Given the description of an element on the screen output the (x, y) to click on. 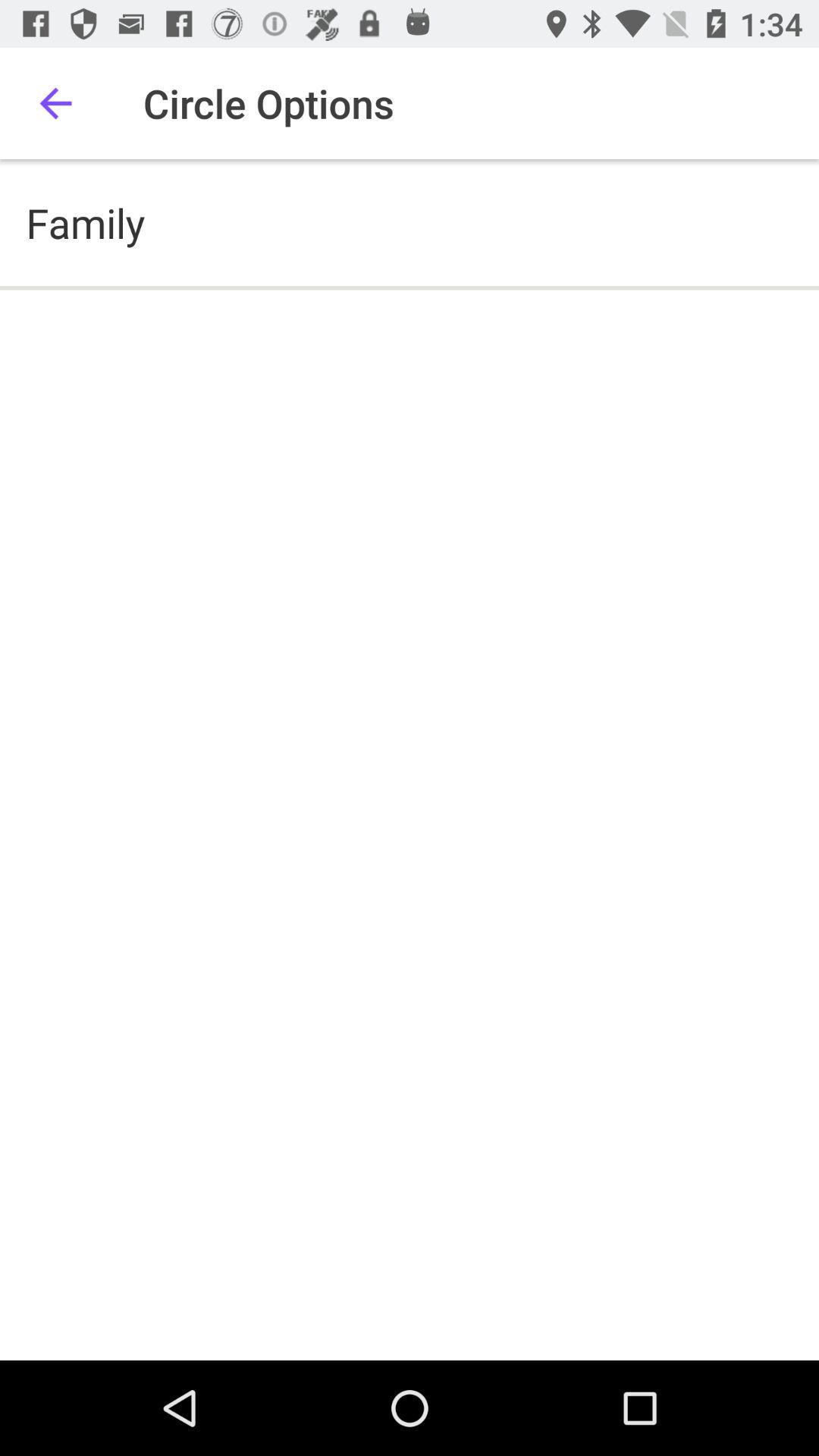
jump to family icon (85, 222)
